Given the description of an element on the screen output the (x, y) to click on. 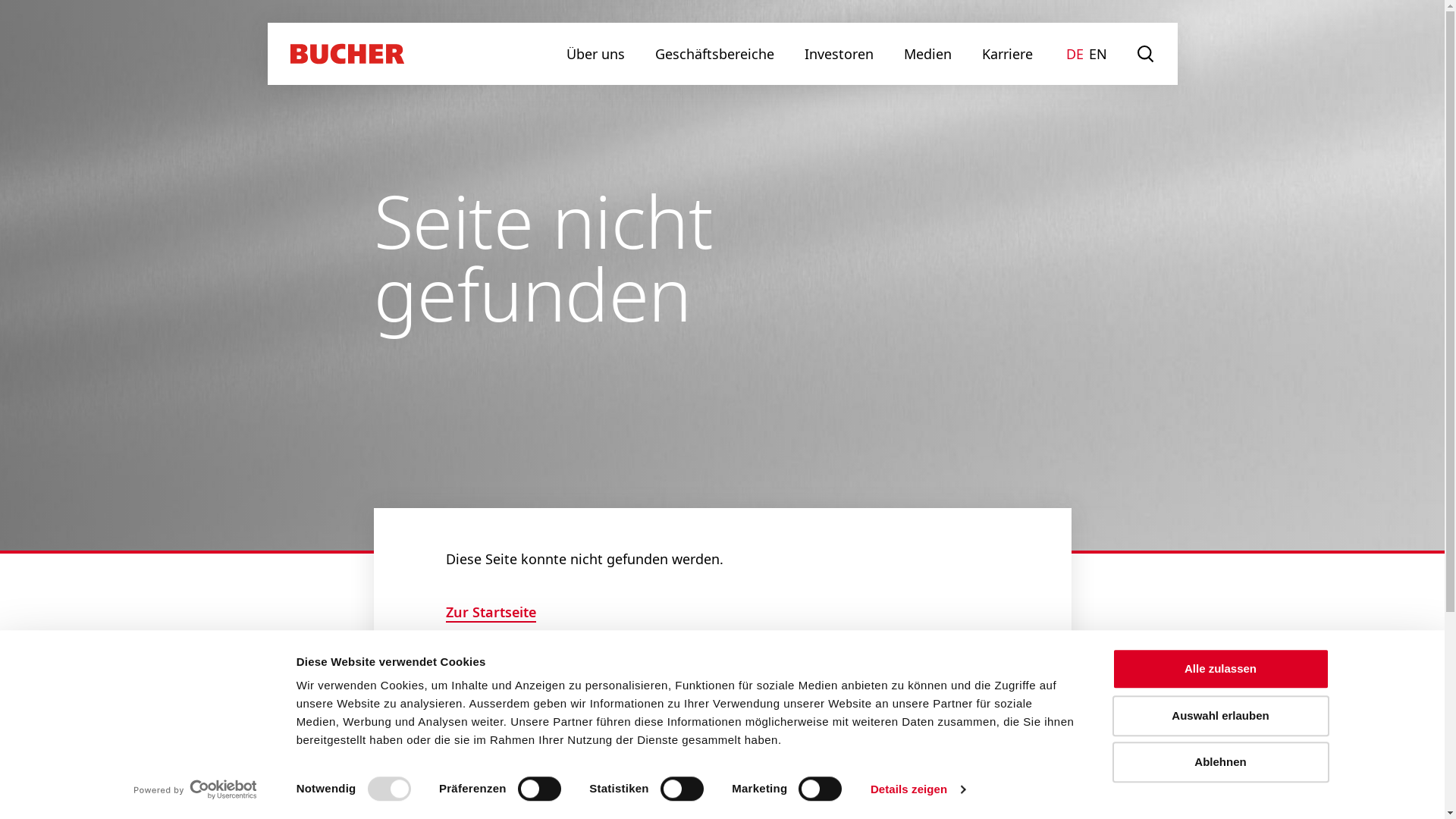
Kontakt Element type: text (67, 775)
Zur Startseite Element type: text (490, 612)
Bucher Industries AG Element type: text (1388, 775)
EN Element type: text (1097, 53)
Karriere Element type: text (1006, 53)
Alle zulassen Element type: text (1219, 668)
Rechtliche Hinweise Element type: text (529, 775)
DE Element type: text (1074, 53)
Medienmitteilungen abonnieren Element type: text (227, 775)
Impressum Element type: text (398, 775)
Details zeigen Element type: text (917, 789)
Medien Element type: text (927, 53)
Suche Element type: text (1146, 53)
Ablehnen Element type: text (1219, 761)
Investoren Element type: text (838, 53)
Auswahl erlauben Element type: text (1219, 715)
